Given the description of an element on the screen output the (x, y) to click on. 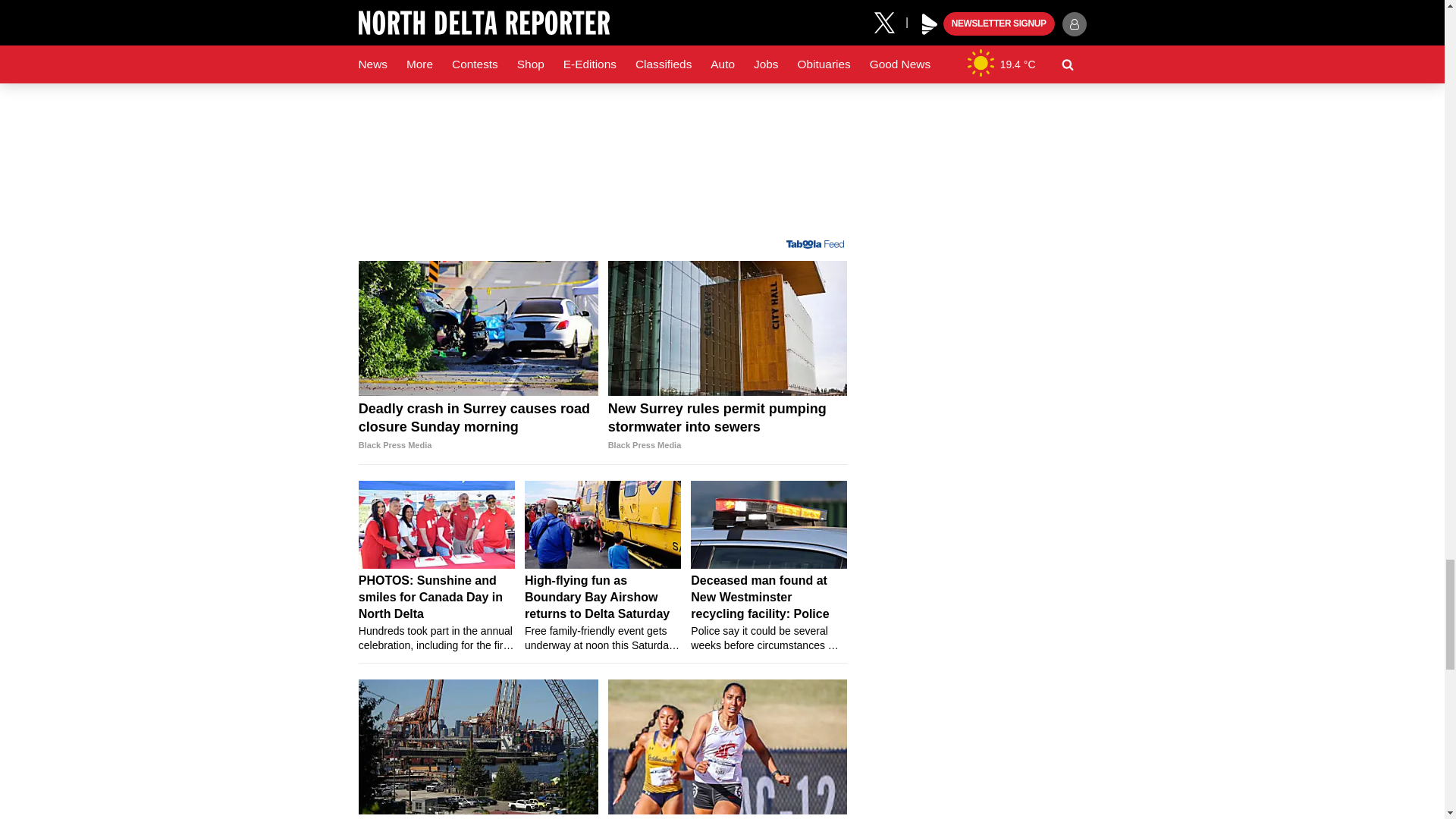
Show Comments (602, 7)
3rd party ad content (602, 140)
